Given the description of an element on the screen output the (x, y) to click on. 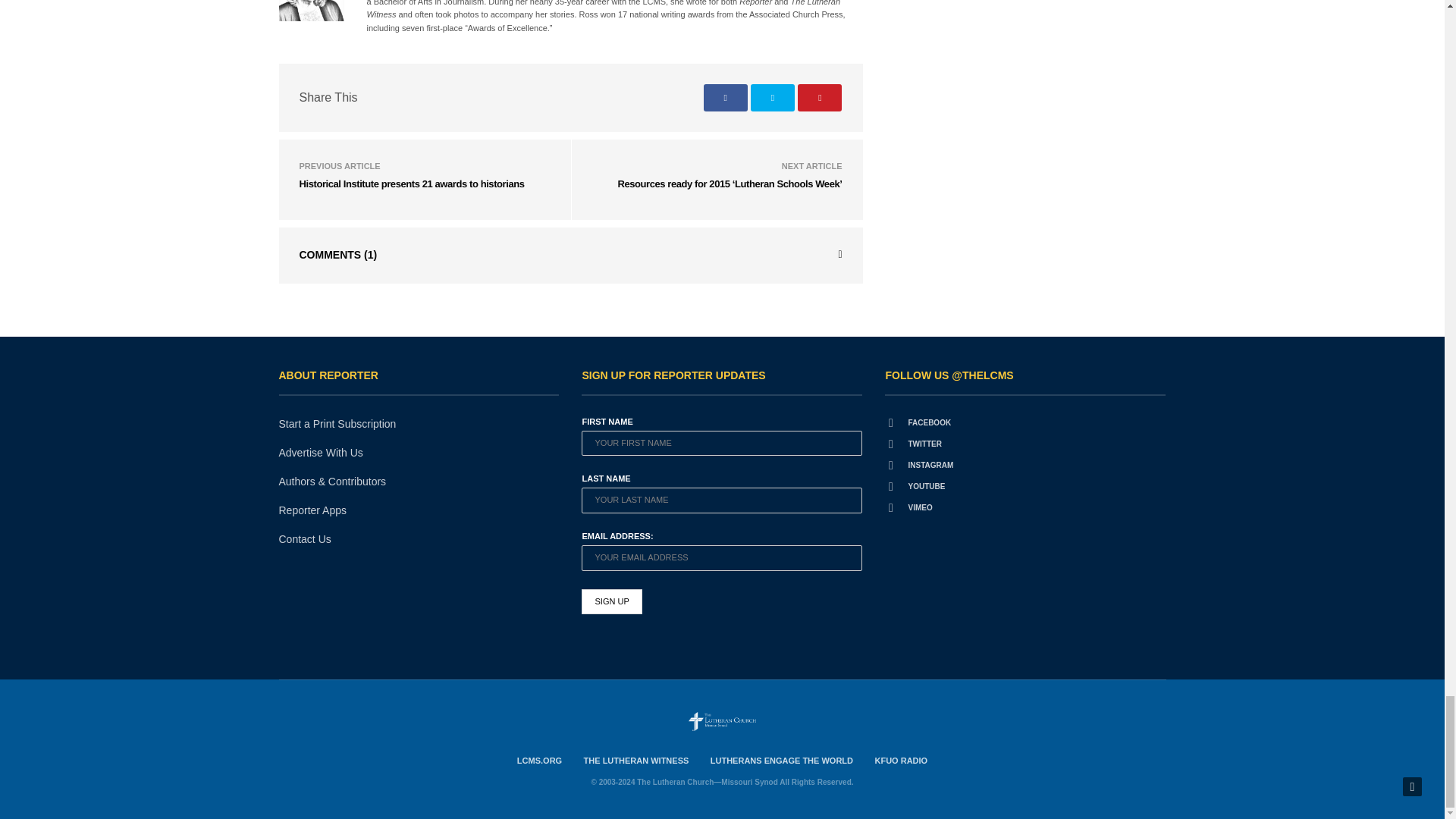
Sign up (611, 601)
Historical Institute presents 21 awards to historians (411, 183)
